Given the description of an element on the screen output the (x, y) to click on. 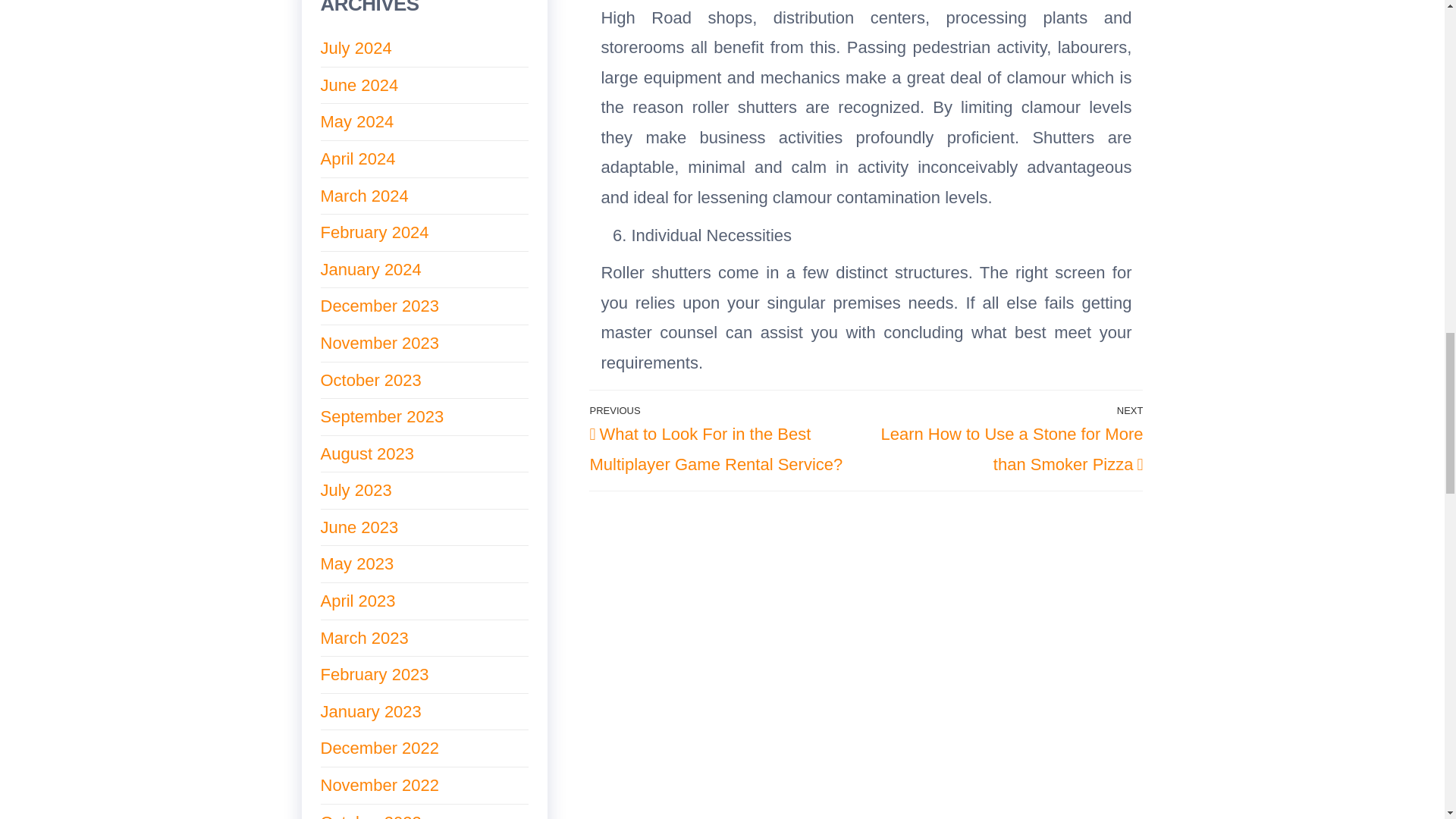
December 2022 (379, 747)
May 2023 (356, 563)
June 2024 (358, 85)
March 2023 (363, 637)
November 2022 (379, 784)
October 2022 (370, 816)
March 2024 (363, 195)
July 2023 (355, 489)
October 2023 (370, 380)
February 2024 (374, 231)
February 2023 (374, 674)
August 2023 (366, 453)
November 2023 (379, 342)
June 2023 (358, 527)
